Given the description of an element on the screen output the (x, y) to click on. 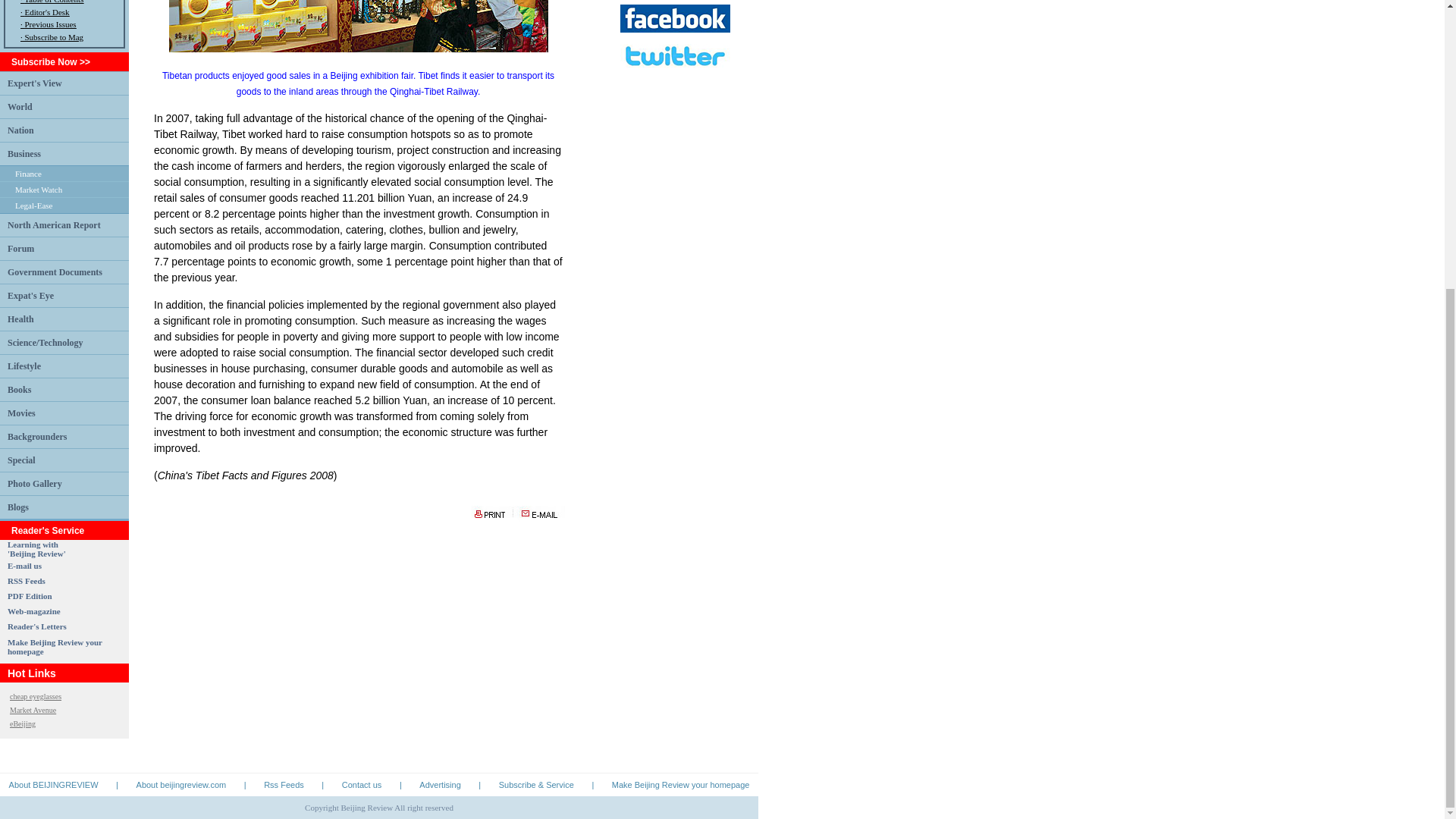
North American Report (36, 548)
E-mail us (53, 225)
cheap eyeglasses (24, 565)
Forum (35, 696)
Finance (20, 247)
Previous Issues (28, 173)
Legal-Ease (49, 23)
Make Beijing Review your homepage (33, 204)
Photo Gallery (54, 647)
